Given the description of an element on the screen output the (x, y) to click on. 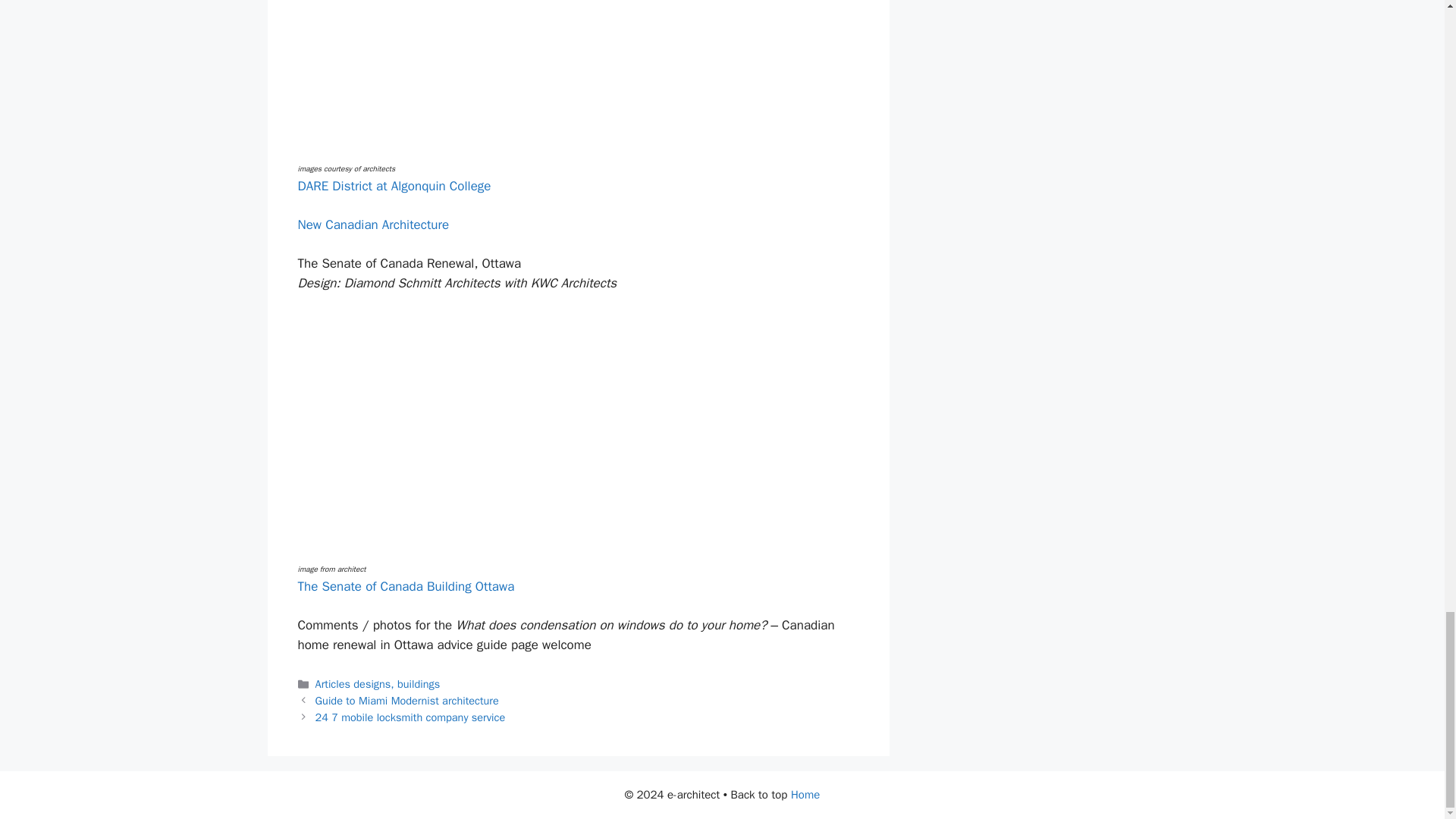
24 7 mobile locksmith company service (410, 716)
Guide to Miami Modernist architecture (407, 700)
The Senate of Canada Building Ottawa (405, 586)
Home (804, 794)
DARE District at Algonquin College (393, 186)
New Canadian Architecture (372, 224)
Articles designs, buildings (378, 684)
